Given the description of an element on the screen output the (x, y) to click on. 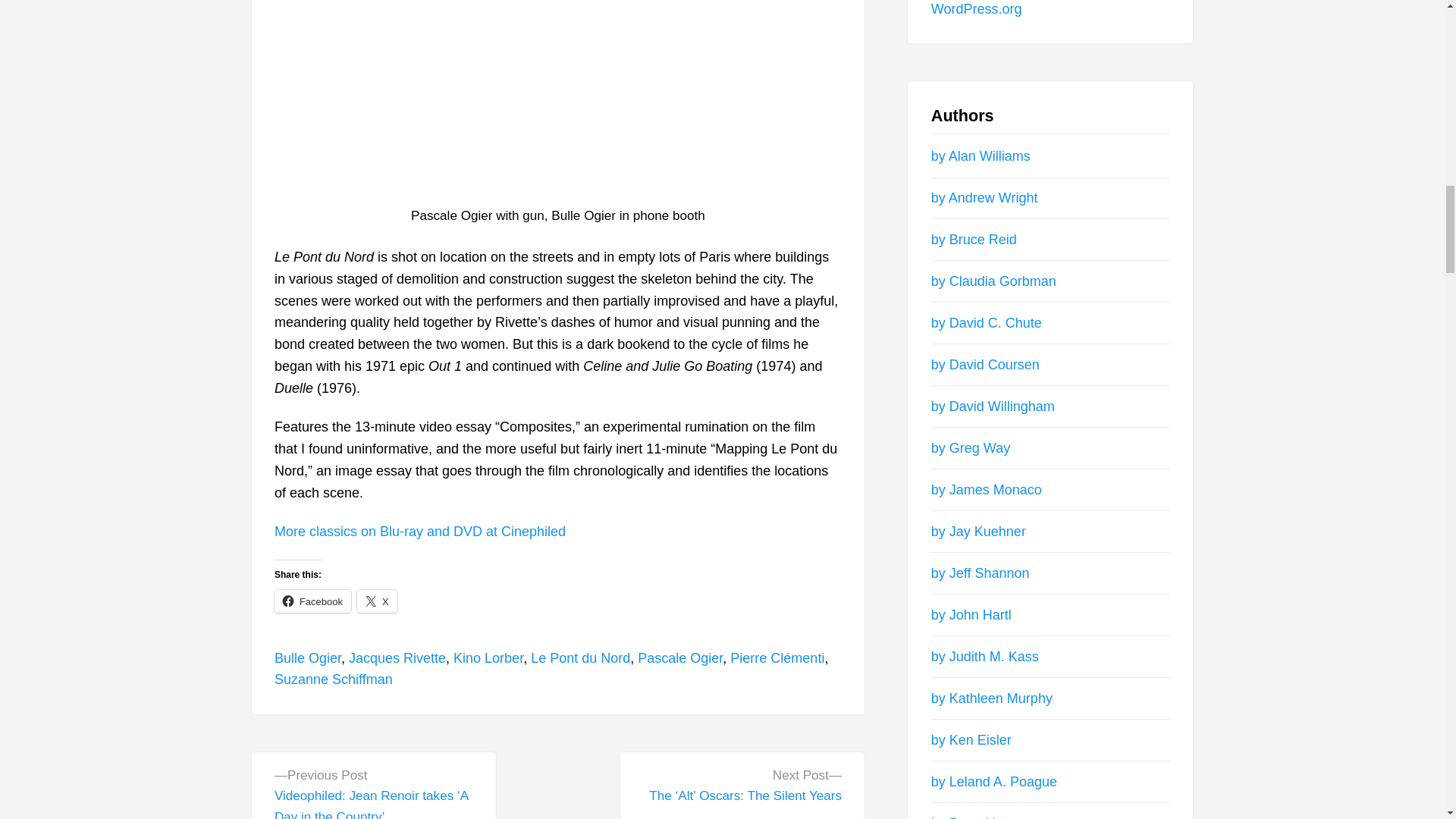
More classics on Blu-ray and DVD at Cinephiled (420, 531)
Le Pont du Nord (580, 657)
Pascale Ogier (679, 657)
Bulle Ogier (307, 657)
Facebook (312, 600)
X (376, 600)
Click to share on Facebook (312, 600)
Suzanne Schiffman (334, 679)
Click to share on X (376, 600)
Kino Lorber (487, 657)
